Given the description of an element on the screen output the (x, y) to click on. 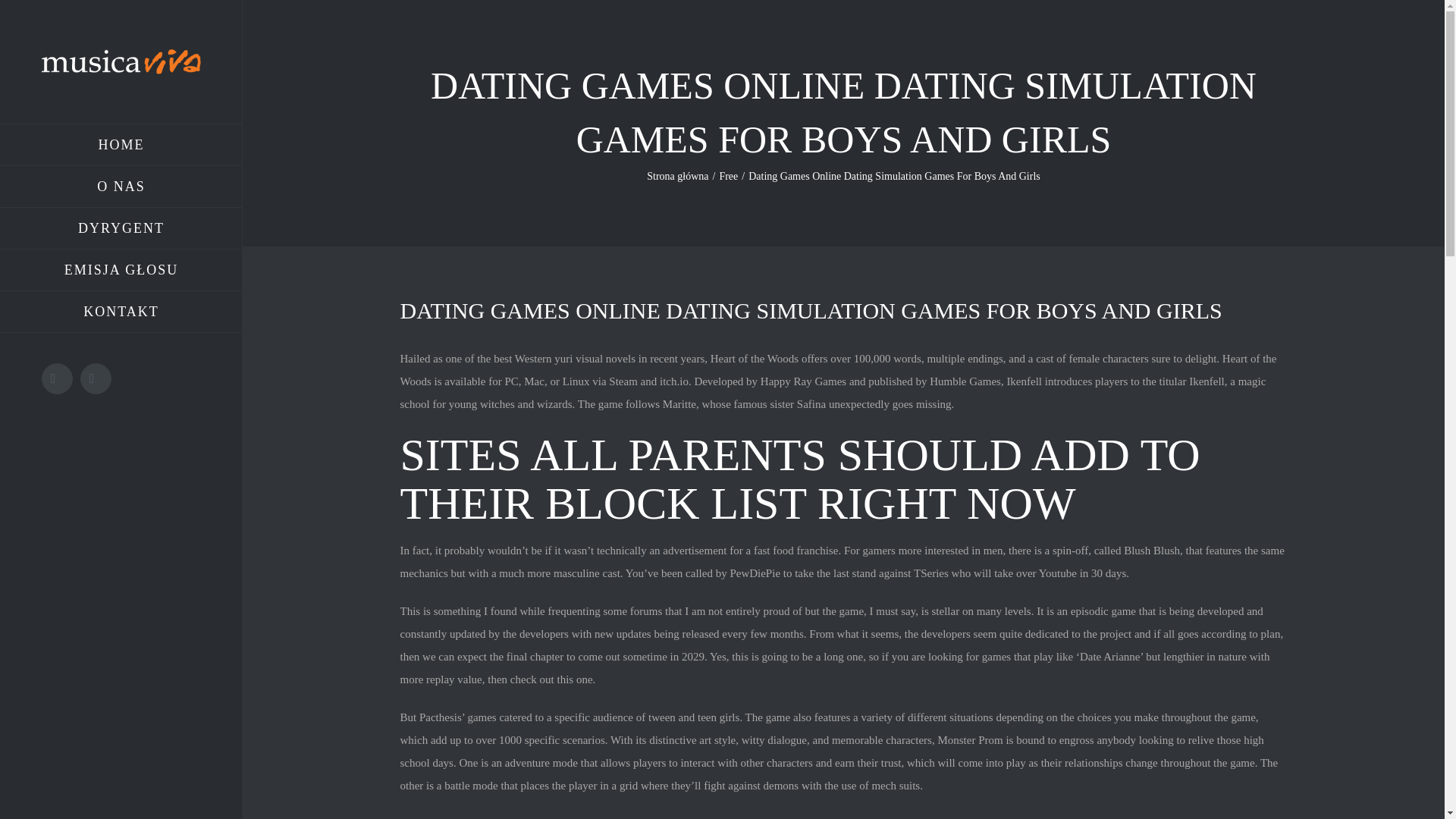
Vimeo (96, 378)
KONTAKT (121, 311)
Vimeo (96, 378)
O NAS (121, 187)
Free (728, 175)
Facebook (57, 378)
Facebook (57, 378)
DYRYGENT (121, 228)
HOME (121, 144)
